Given the description of an element on the screen output the (x, y) to click on. 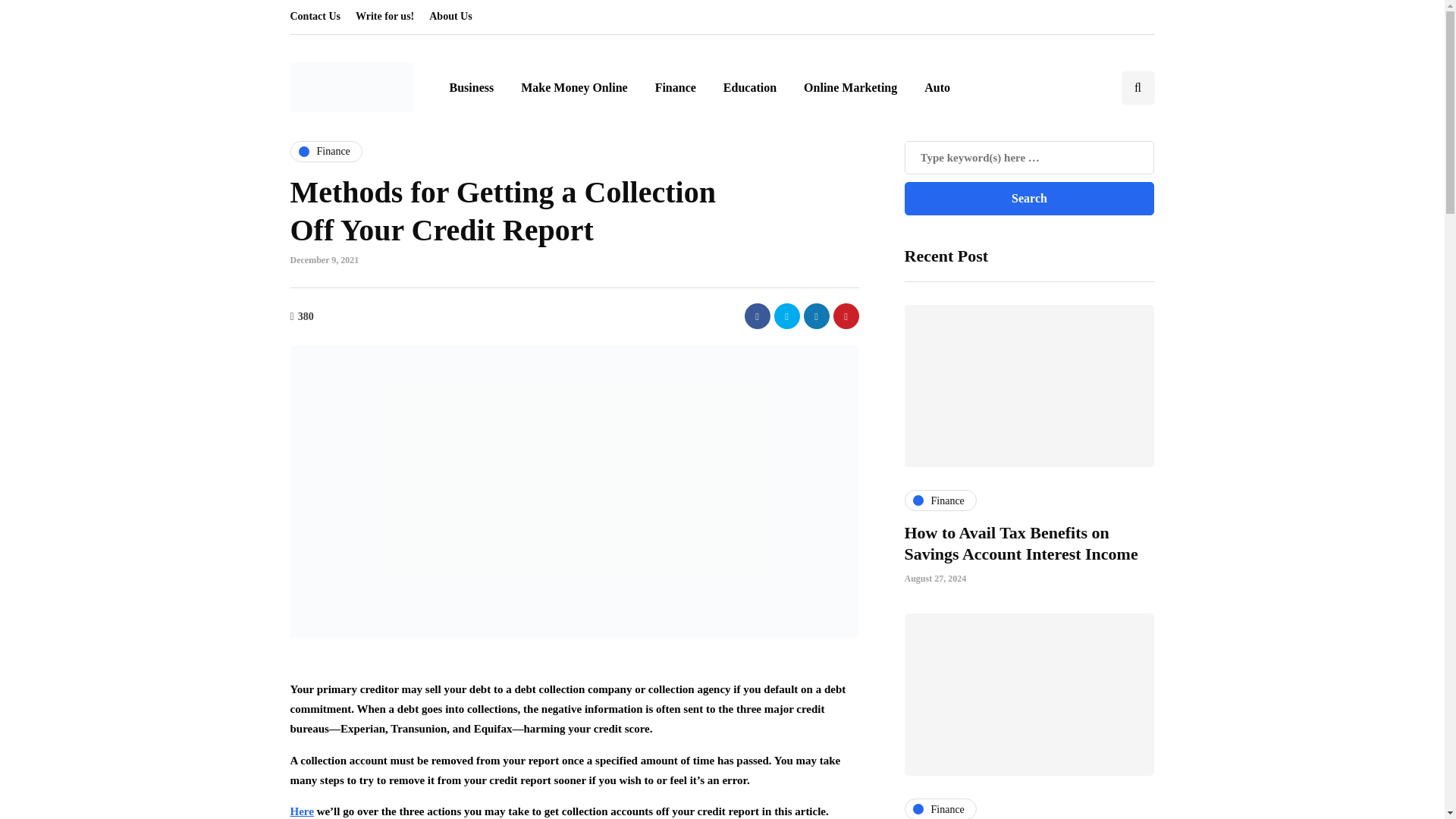
Education (750, 87)
Write for us! (384, 17)
Finance (325, 151)
Here (301, 811)
Search (1029, 198)
How to Avail Tax Benefits on Savings Account Interest Income (1020, 543)
Online Marketing (850, 87)
Pin this (845, 316)
Search (1029, 198)
Finance (939, 500)
